Given the description of an element on the screen output the (x, y) to click on. 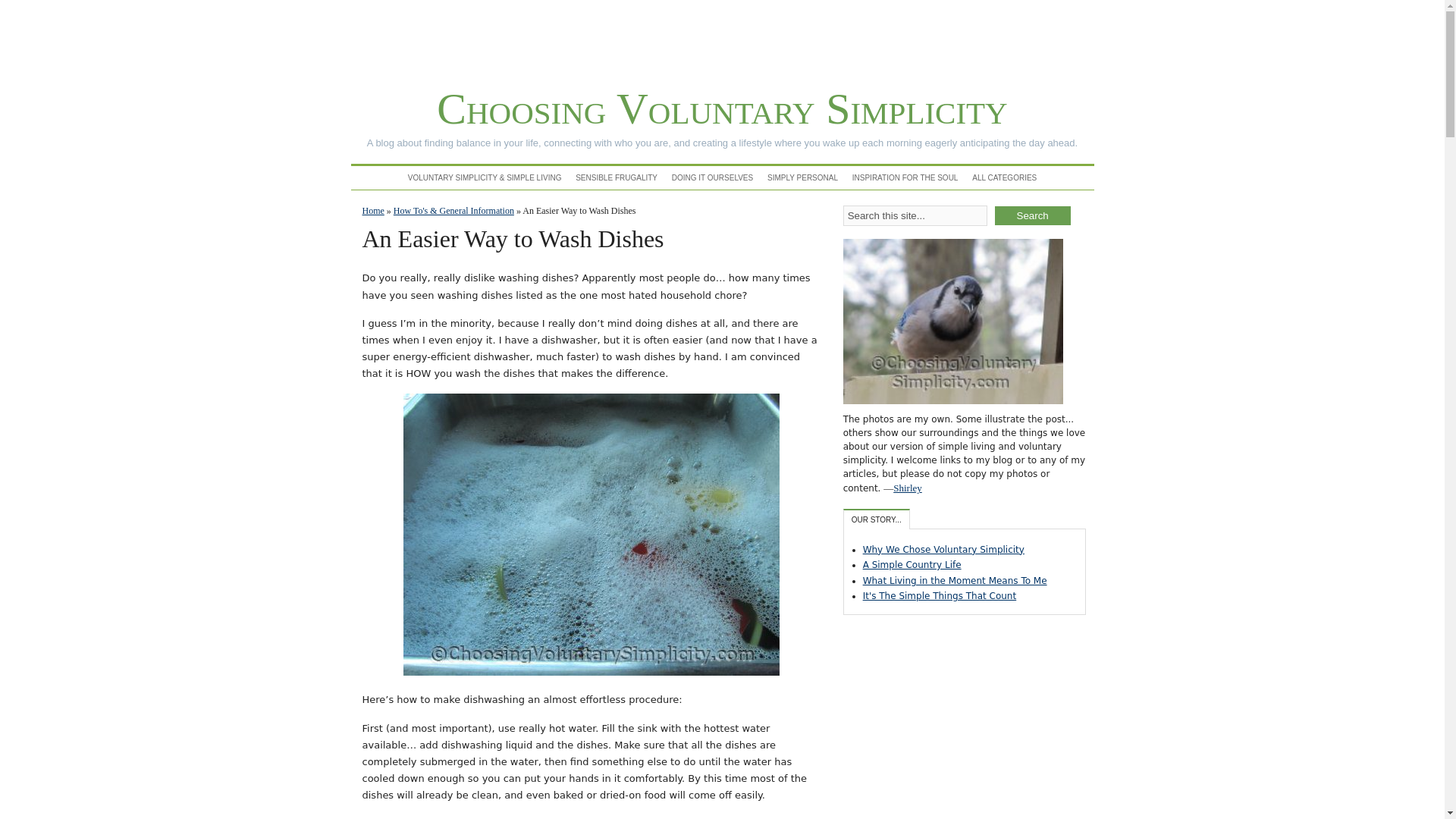
SENSIBLE FRUGALITY (616, 177)
Home (373, 210)
INSPIRATION FOR THE SOUL (904, 177)
A Simple Country Life (911, 564)
Advertisement (956, 722)
It's The Simple Things That Count (939, 595)
Search (1032, 215)
Search (1032, 215)
Search (1032, 215)
DOING IT OURSELVES (711, 177)
Choosing Voluntary Simplicity (721, 108)
Advertisement (721, 39)
ALL CATEGORIES (1004, 177)
SIMPLY PERSONAL (802, 177)
Search this site... (915, 215)
